Given the description of an element on the screen output the (x, y) to click on. 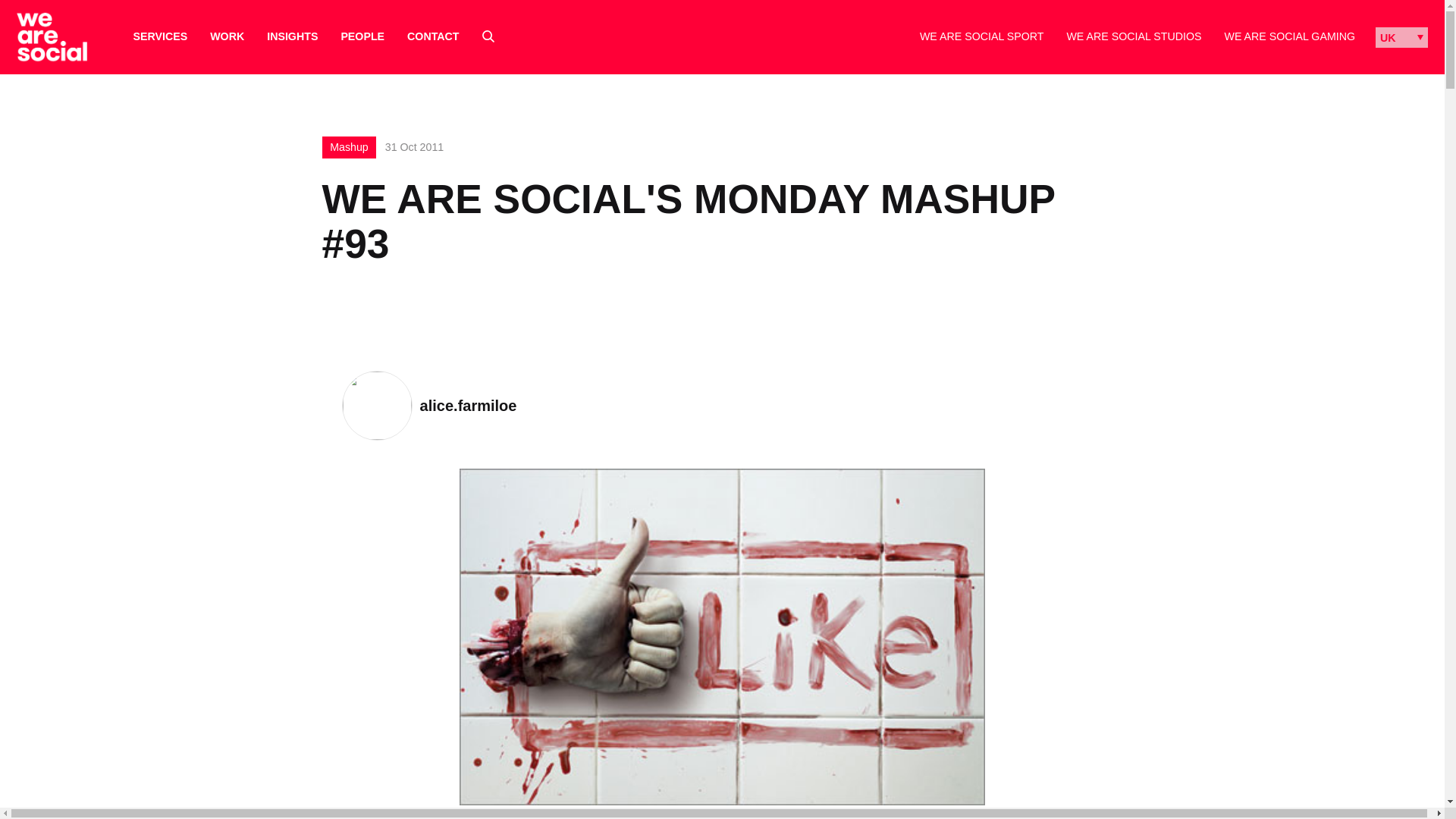
WE ARE SOCIAL SPORT (981, 36)
Insights (291, 36)
SERVICES (160, 36)
We Are Social Studios (1133, 36)
Select to toggle search form (488, 36)
We Are Social Sport (981, 36)
WE ARE SOCIAL GAMING (1289, 36)
PEOPLE (362, 36)
INSIGHTS (291, 36)
